Given the description of an element on the screen output the (x, y) to click on. 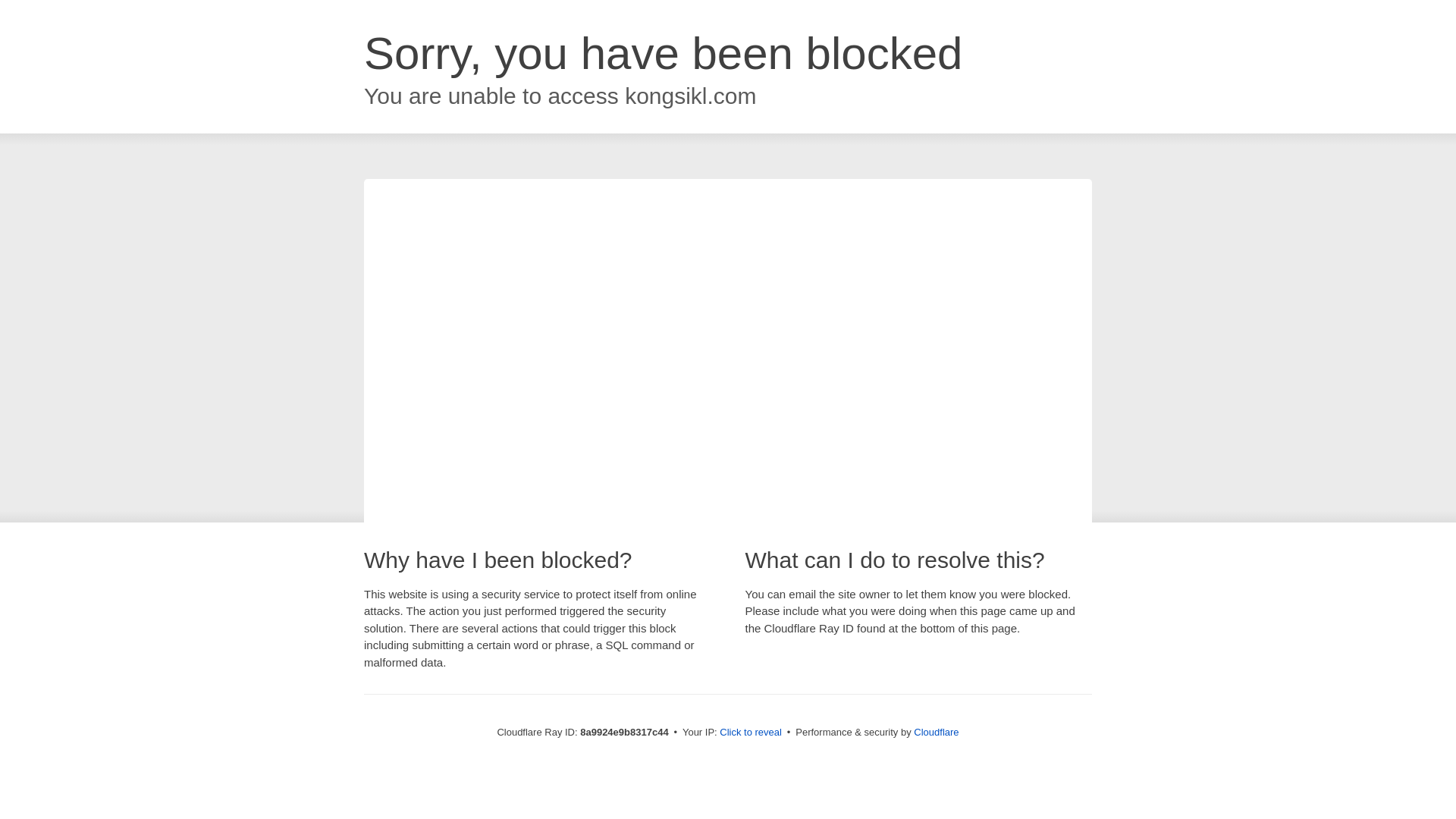
Cloudflare (936, 731)
Click to reveal (750, 732)
